Given the description of an element on the screen output the (x, y) to click on. 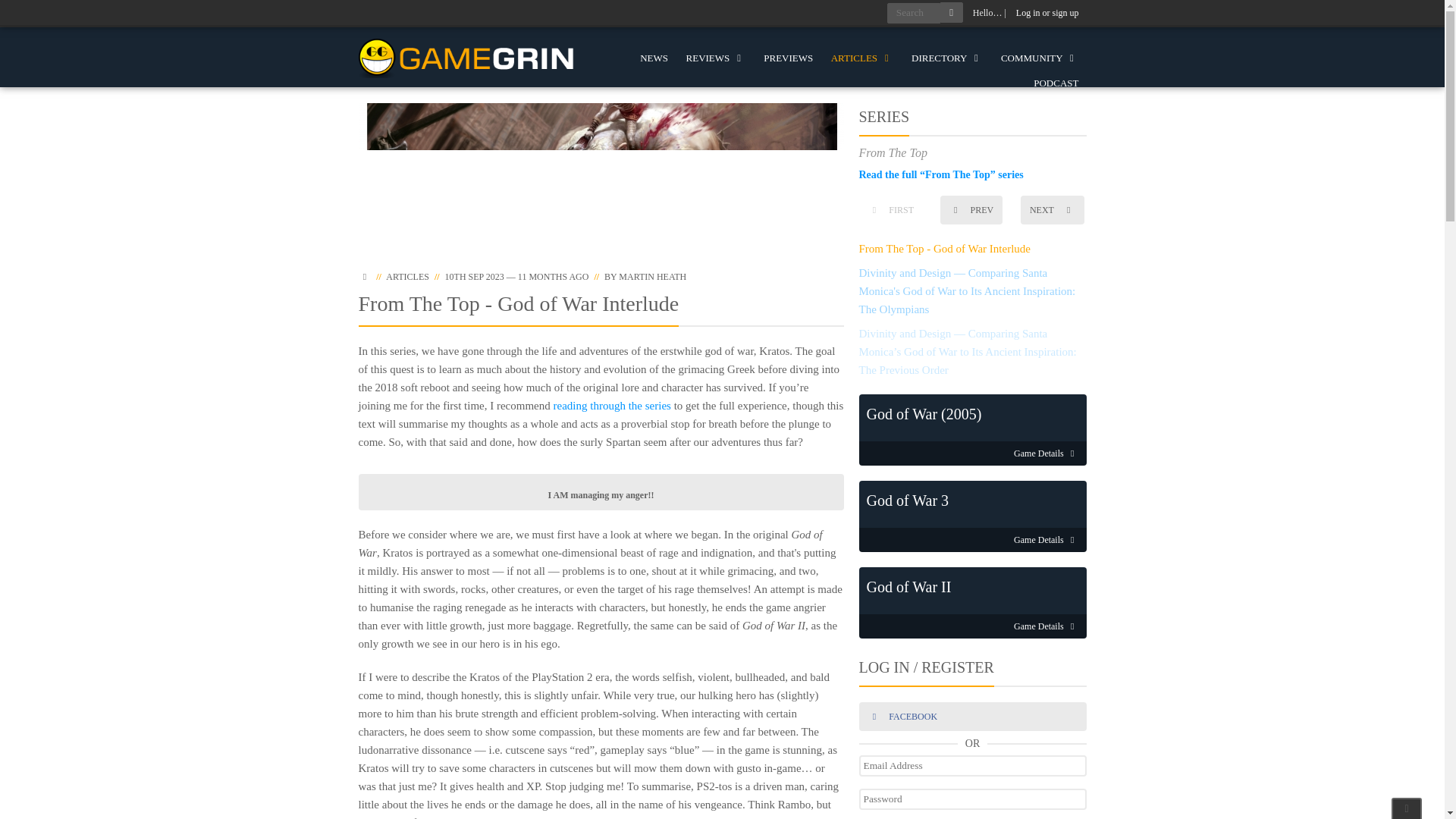
REVIEWS (716, 57)
Log in or sign up (1047, 13)
PREVIEWS (788, 57)
NEWS (653, 57)
ARTICLES (407, 276)
reading through the series (612, 405)
PODCAST (1056, 82)
COMMUNITY (1039, 57)
Email Address (972, 765)
ARTICLES (862, 57)
Password (972, 798)
DIRECTORY (947, 57)
MARTIN HEATH (651, 276)
